Given the description of an element on the screen output the (x, y) to click on. 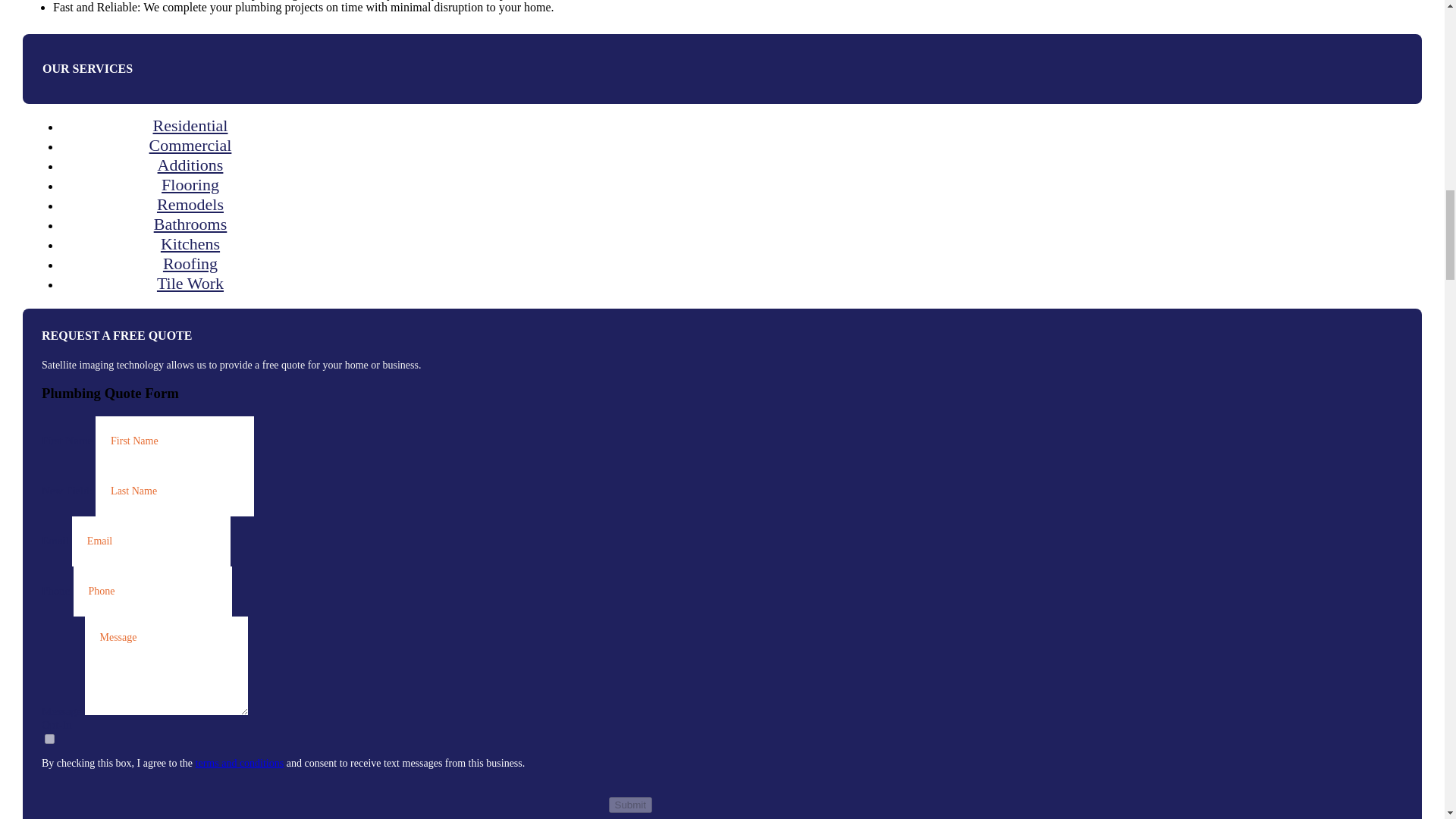
Residential (189, 125)
Commercial (190, 144)
Submit (629, 804)
true (50, 738)
